Given the description of an element on the screen output the (x, y) to click on. 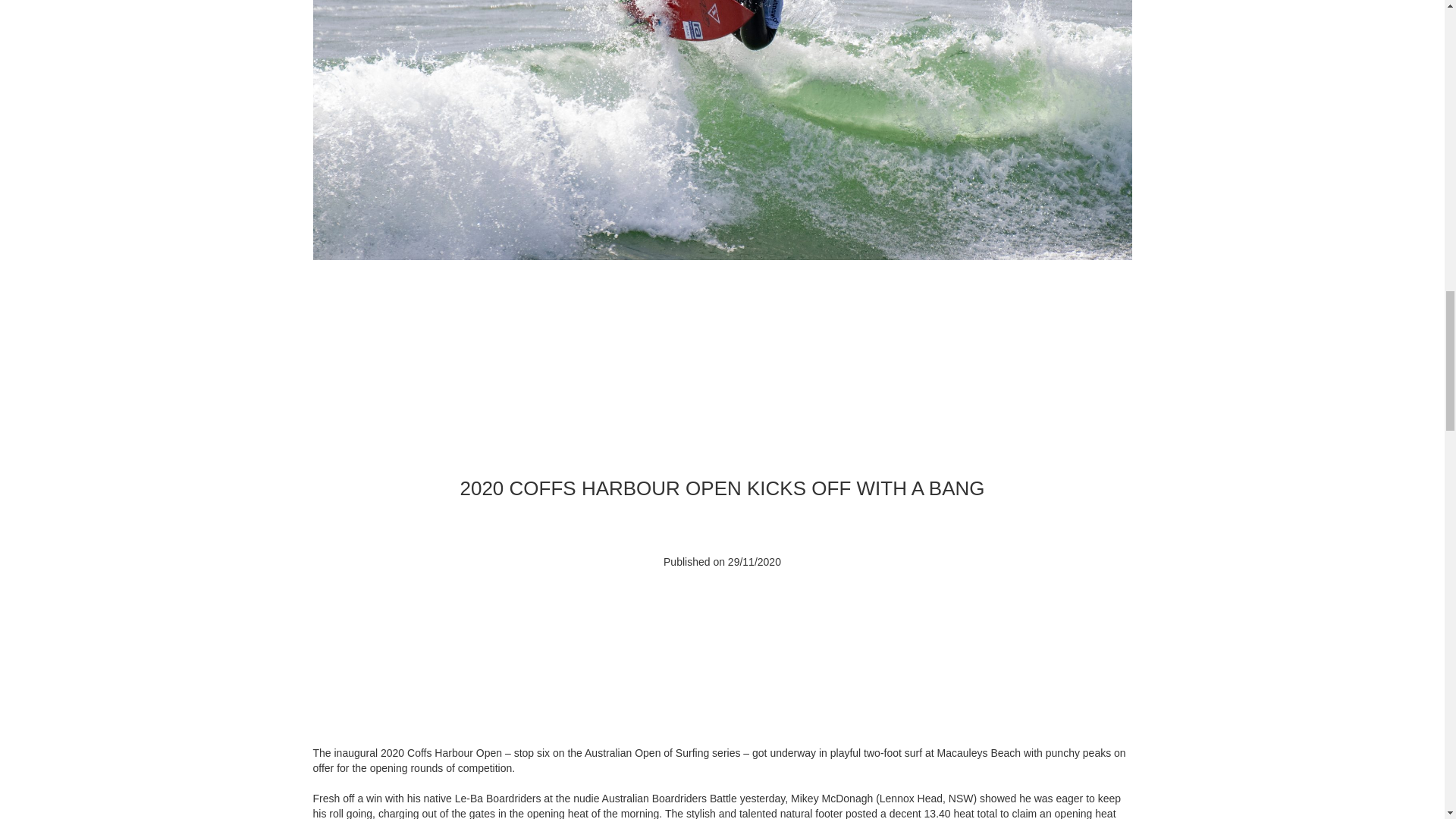
Follow on LinkedIn (782, 604)
Follow on Youtube (721, 604)
Follow on X (751, 604)
Follow on Facebook (660, 604)
Follow on Instagram (691, 604)
